Given the description of an element on the screen output the (x, y) to click on. 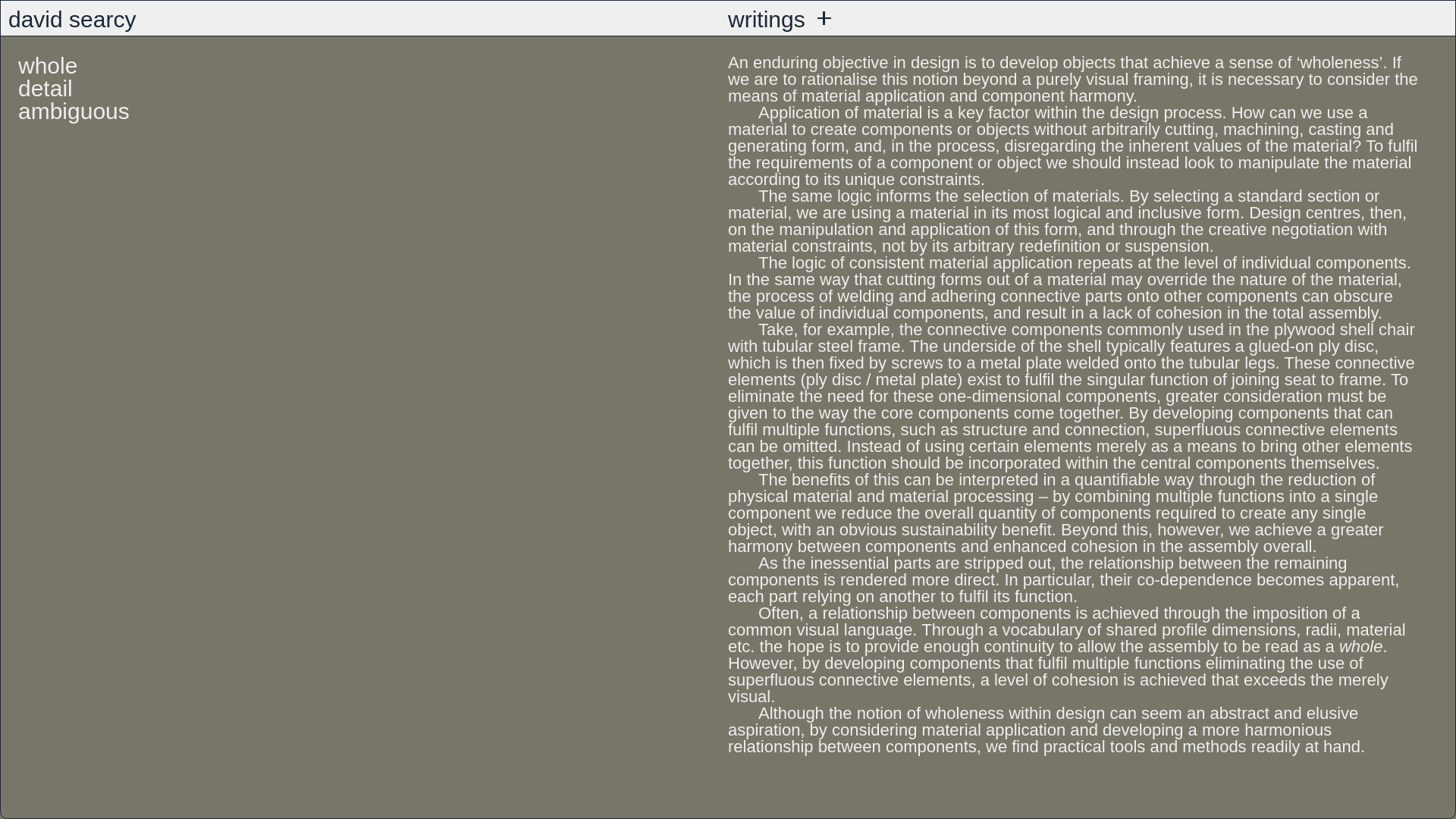
whole (47, 65)
detail (44, 88)
david searcy (71, 18)
ambiguous (73, 110)
writings (772, 18)
